Given the description of an element on the screen output the (x, y) to click on. 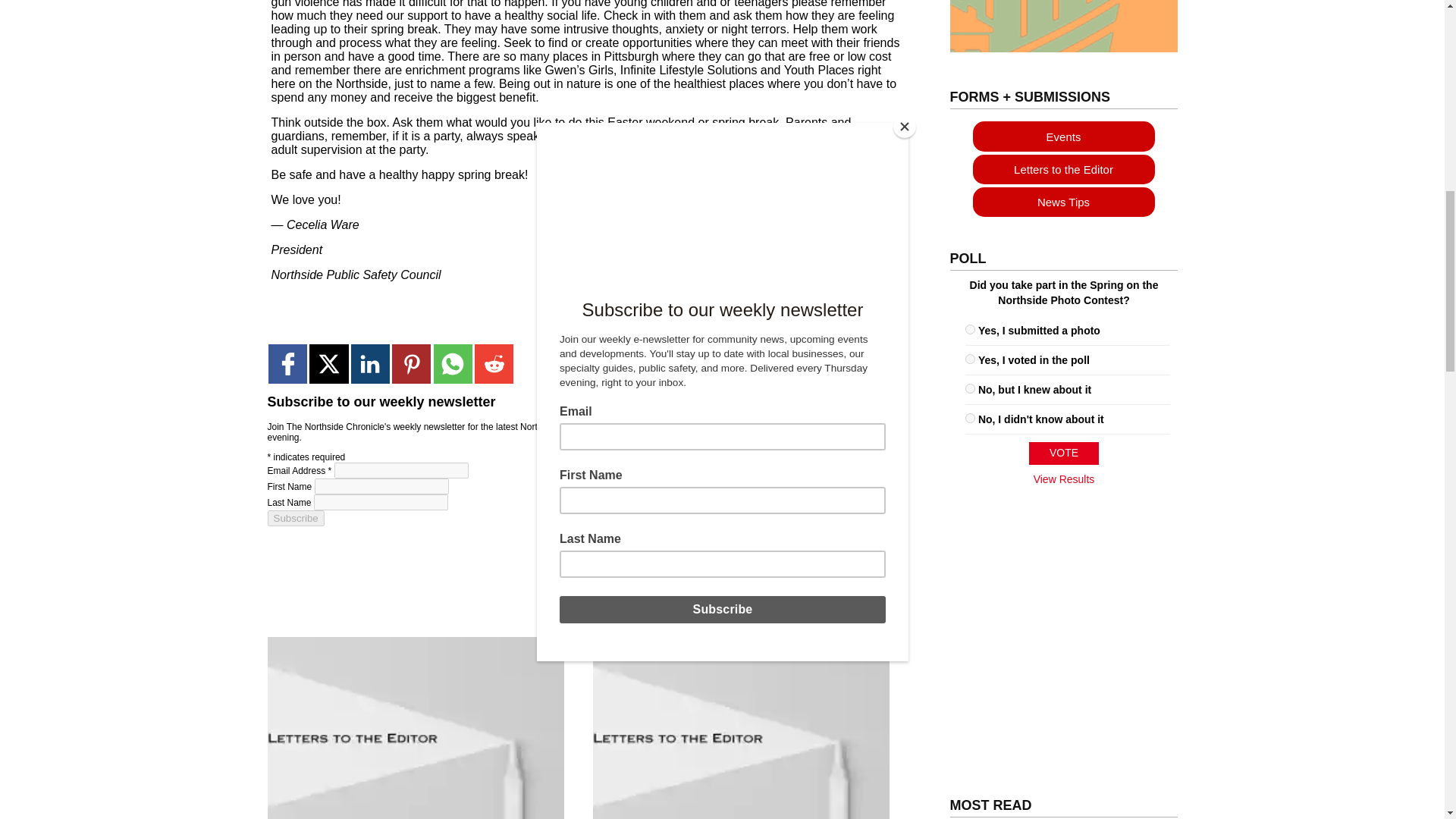
Subscribe (294, 518)
